Given the description of an element on the screen output the (x, y) to click on. 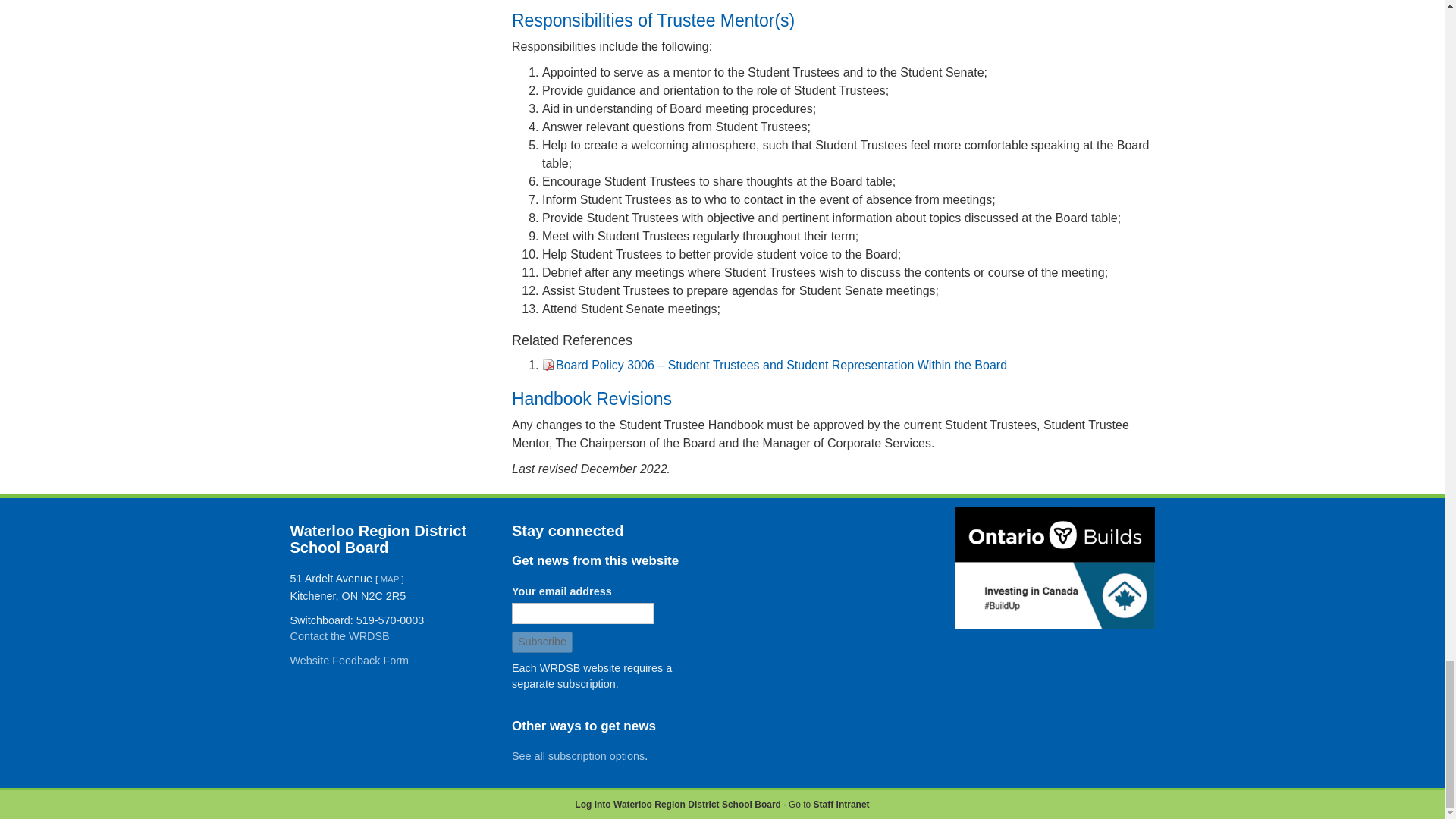
Subscribe (542, 641)
